Given the description of an element on the screen output the (x, y) to click on. 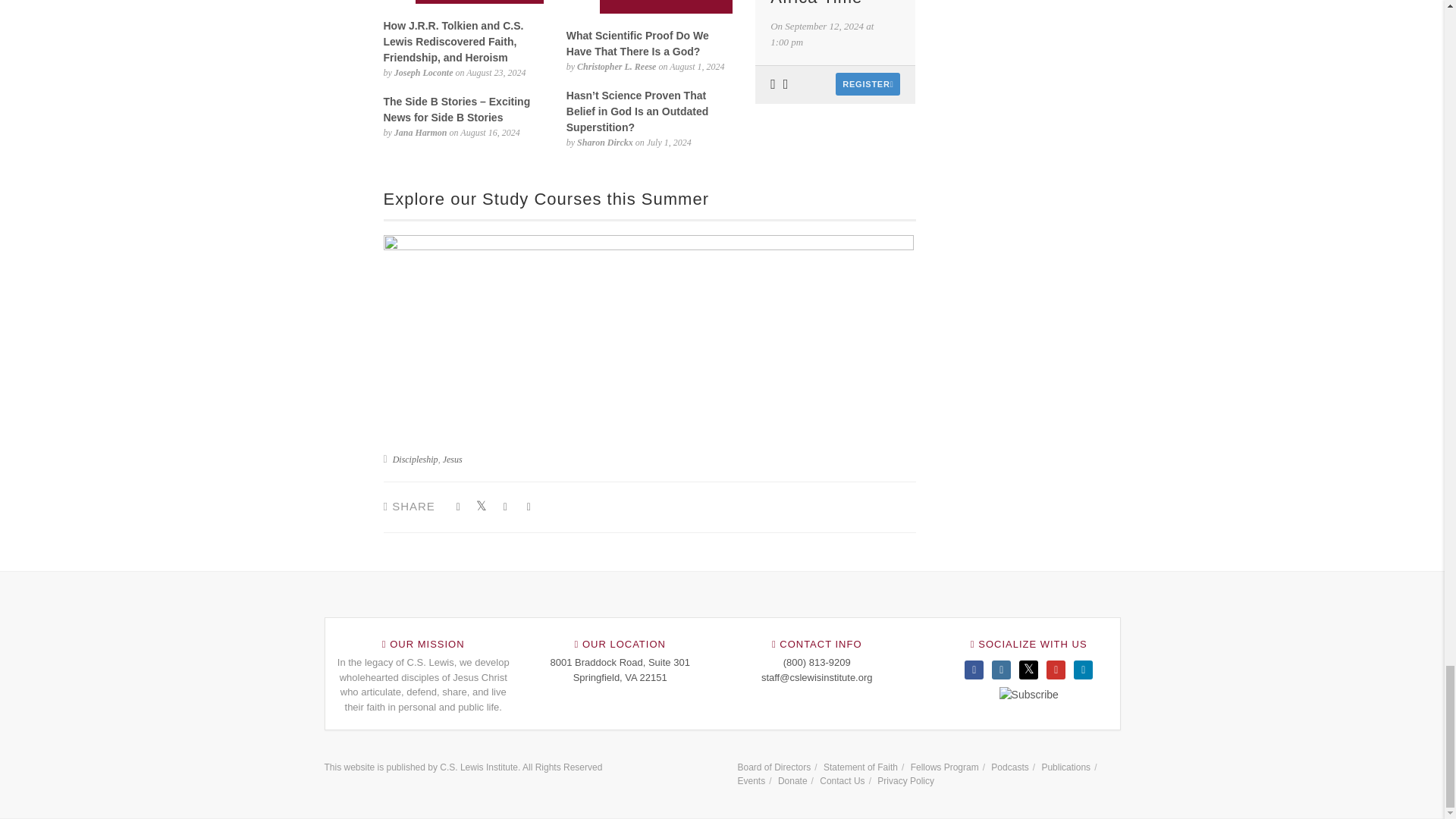
Share on Linkedin (505, 506)
Email (528, 506)
Tweet (481, 506)
Share on Facebook (457, 506)
Discipleship Study Courses (649, 317)
